Given the description of an element on the screen output the (x, y) to click on. 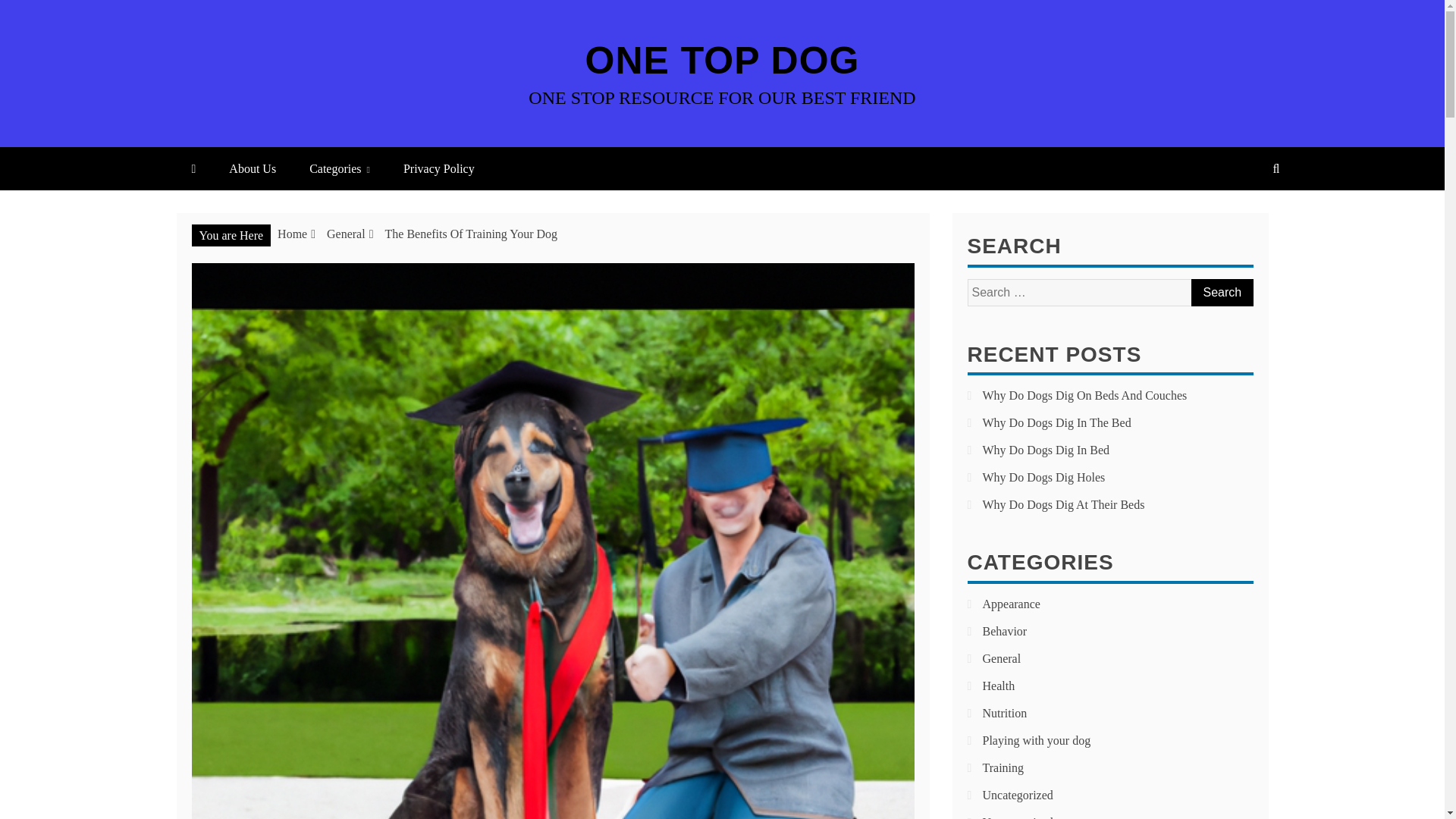
Search (1221, 292)
Categories (339, 168)
About Us (252, 168)
Why Do Dogs Dig On Beds And Couches (1085, 395)
Search (1221, 292)
General (345, 233)
Why Do Dogs Dig In Bed (1045, 449)
Home (292, 233)
Search (1221, 292)
Why Do Dogs Dig In The Bed (1056, 422)
